Given the description of an element on the screen output the (x, y) to click on. 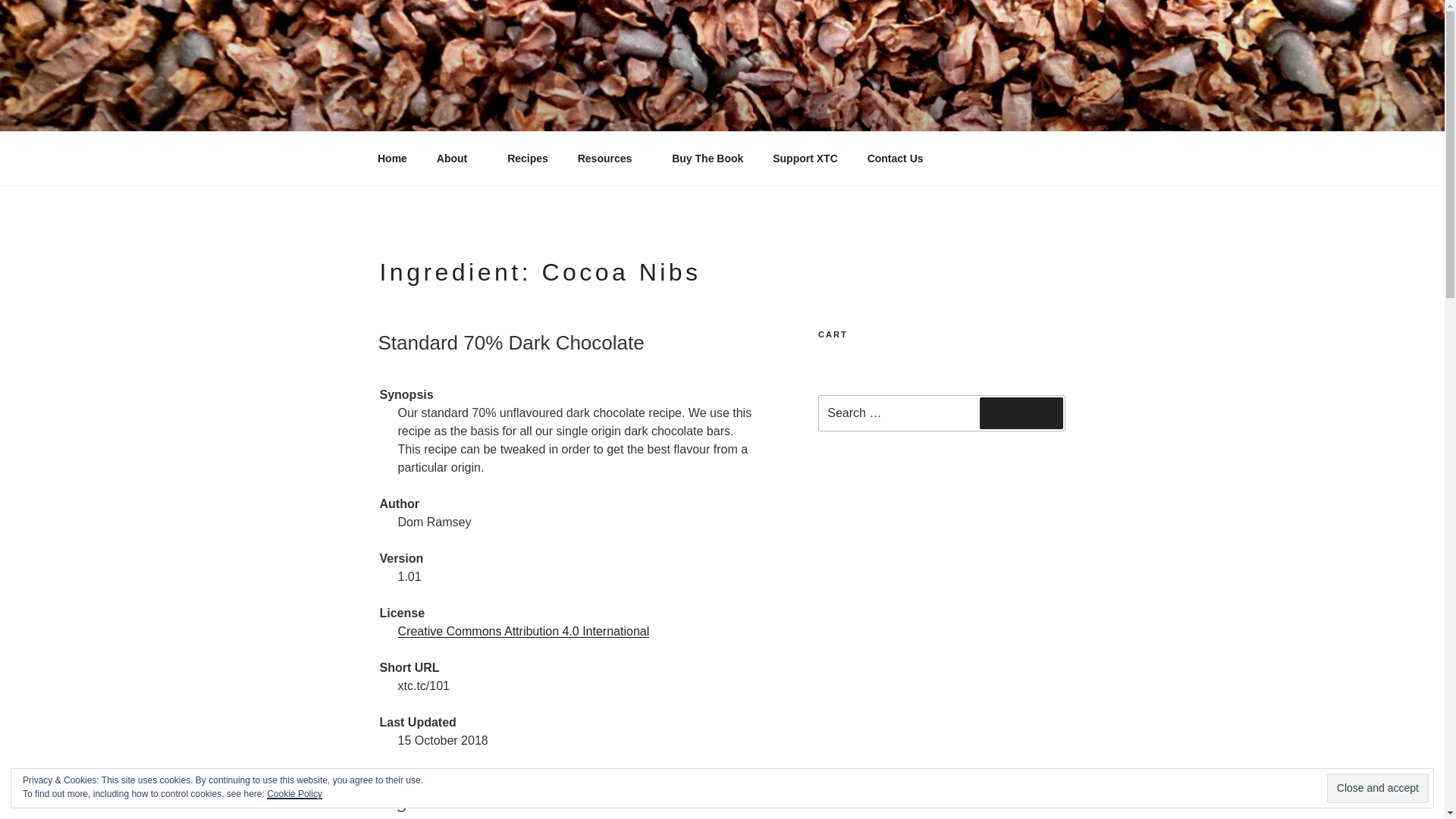
Creative Commons Attribution 4.0 International (523, 631)
About (456, 157)
Close and accept (1377, 788)
Contact Us (894, 157)
Cookie Policy (293, 793)
Support XTC (805, 157)
Close and accept (1377, 788)
Recipes (528, 157)
Buy The Book (708, 157)
Home (392, 157)
